Given the description of an element on the screen output the (x, y) to click on. 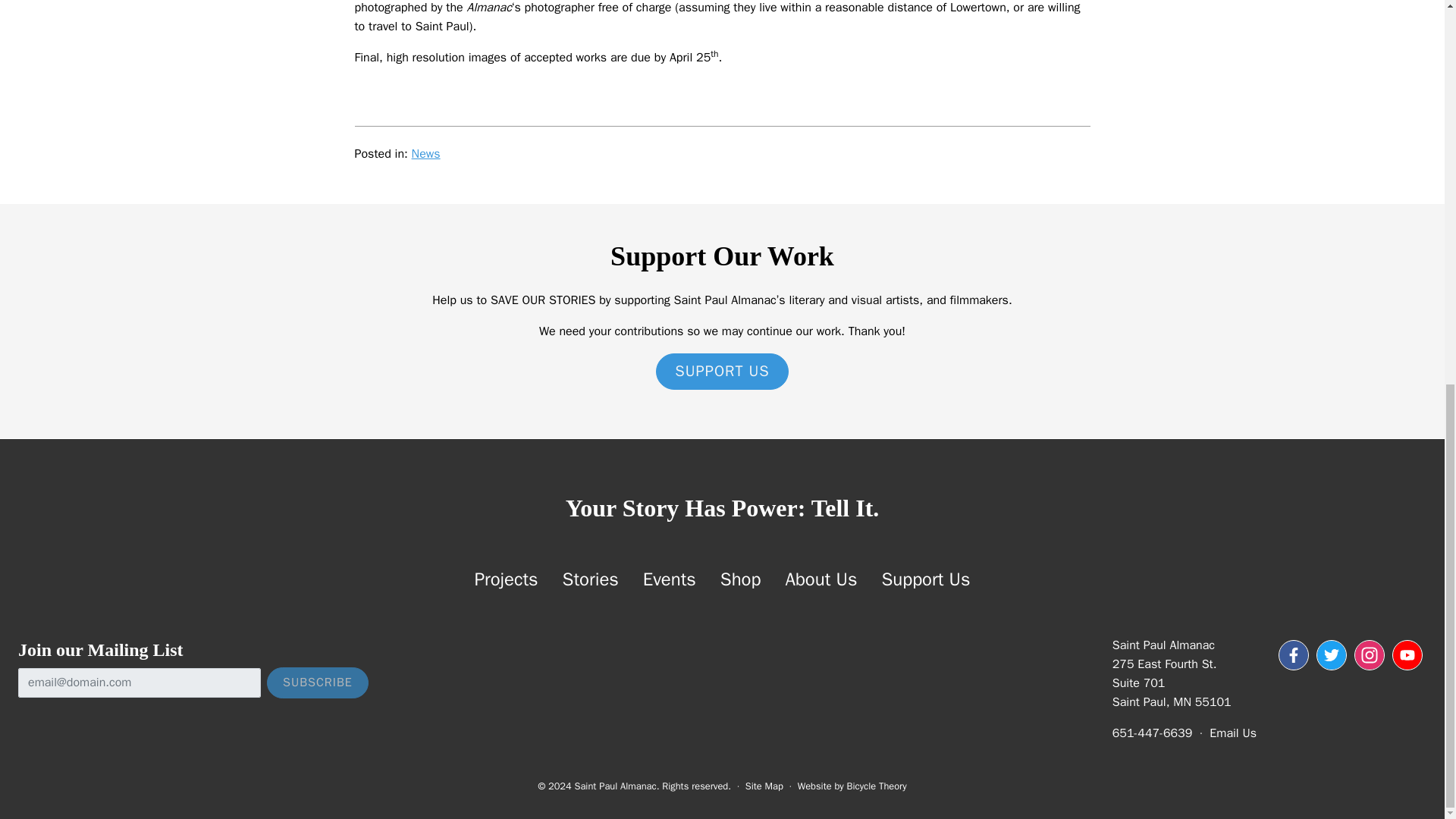
News (426, 153)
Stories (590, 579)
Subscribe (317, 682)
Projects (506, 579)
Events (668, 579)
SUPPORT US (721, 370)
